Given the description of an element on the screen output the (x, y) to click on. 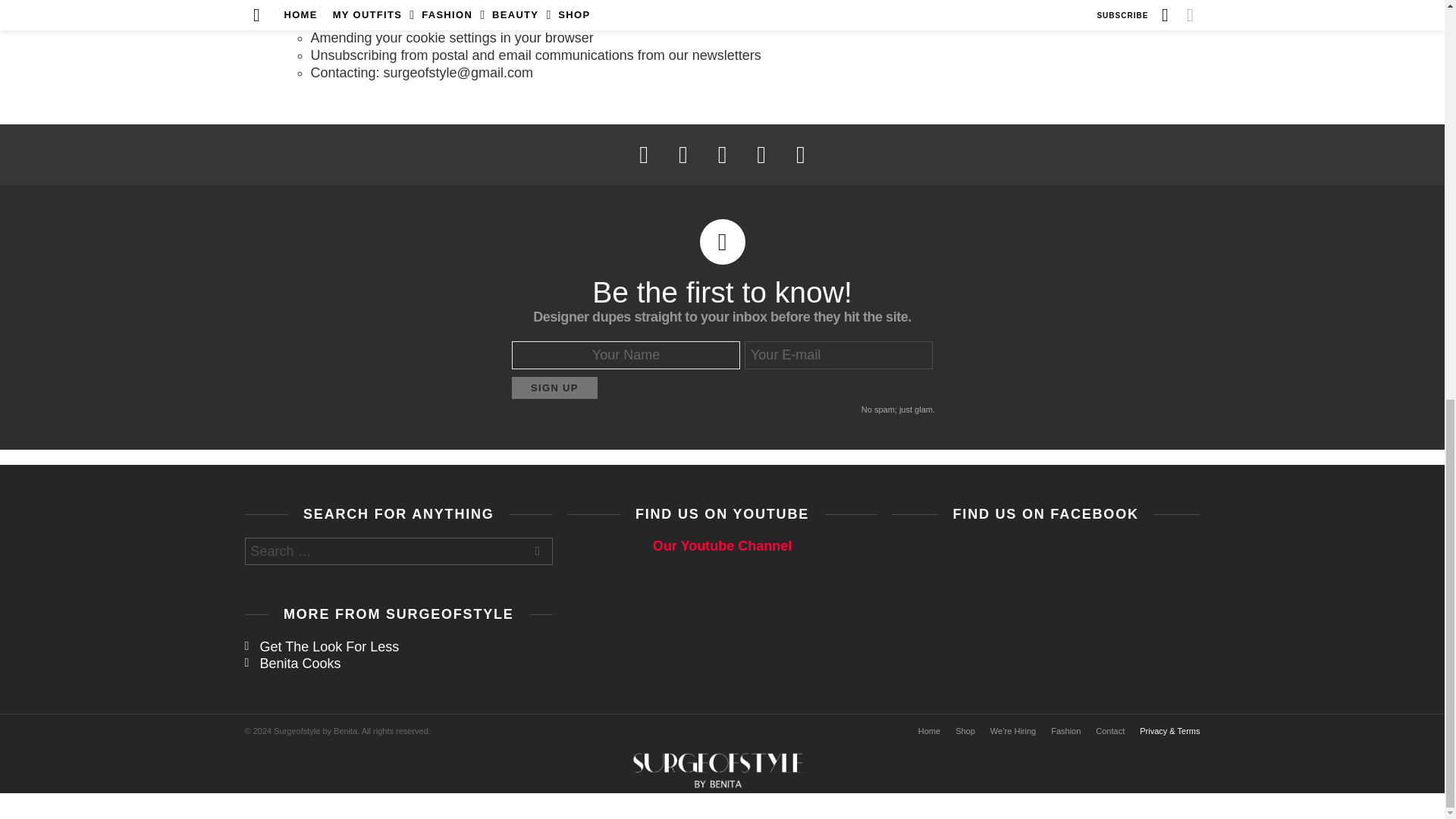
Our Youtube Channel (722, 545)
Get The Look For Less (398, 647)
Home (929, 731)
Shop (964, 731)
SEARCH (537, 552)
Benita Cooks (398, 663)
Sign Up (554, 387)
Sign Up (554, 387)
Search for: (398, 551)
